Given the description of an element on the screen output the (x, y) to click on. 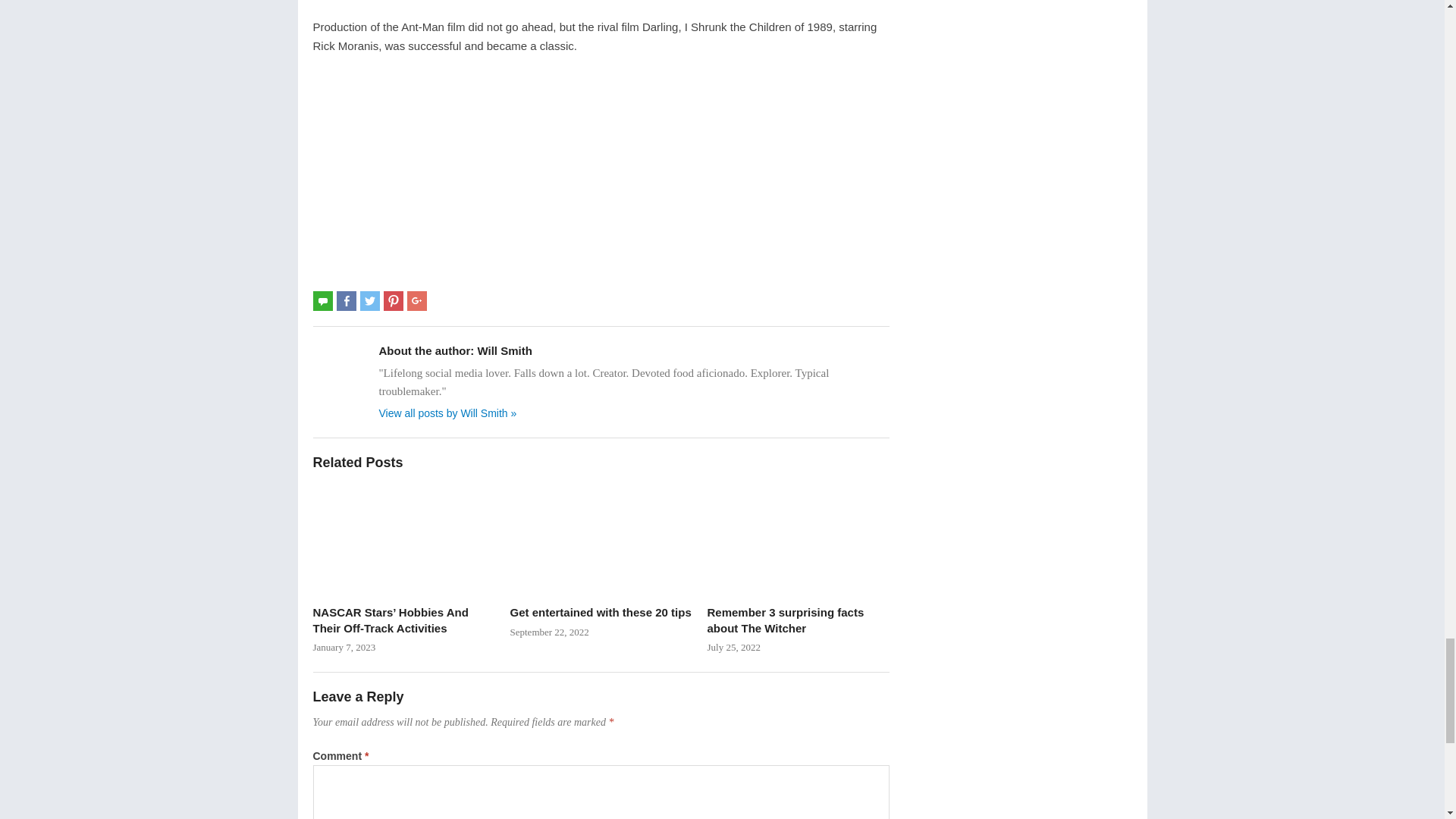
Share on Pinterest (393, 301)
Share on Facebook (346, 301)
Get entertained with these 20 tips (600, 540)
Remember 3 surprising facts about The Witcher (797, 540)
Share on Twitter (369, 301)
